Given the description of an element on the screen output the (x, y) to click on. 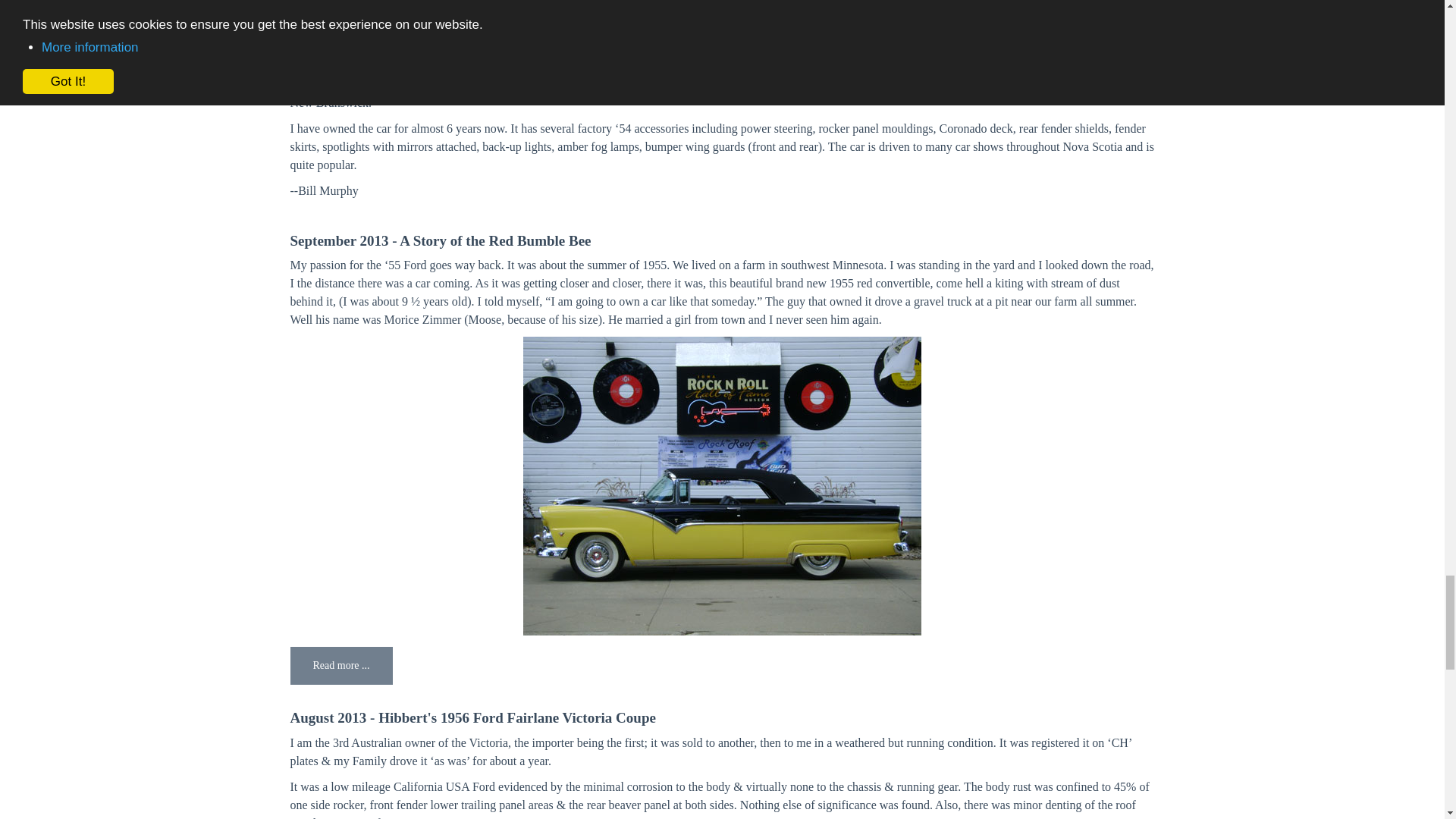
September 2013 - A Story of the Red Bumble Bee (440, 240)
August 2013 - Hibbert's 1956 Ford Fairlane Victoria Coupe (472, 717)
Read more ... (340, 665)
